Given the description of an element on the screen output the (x, y) to click on. 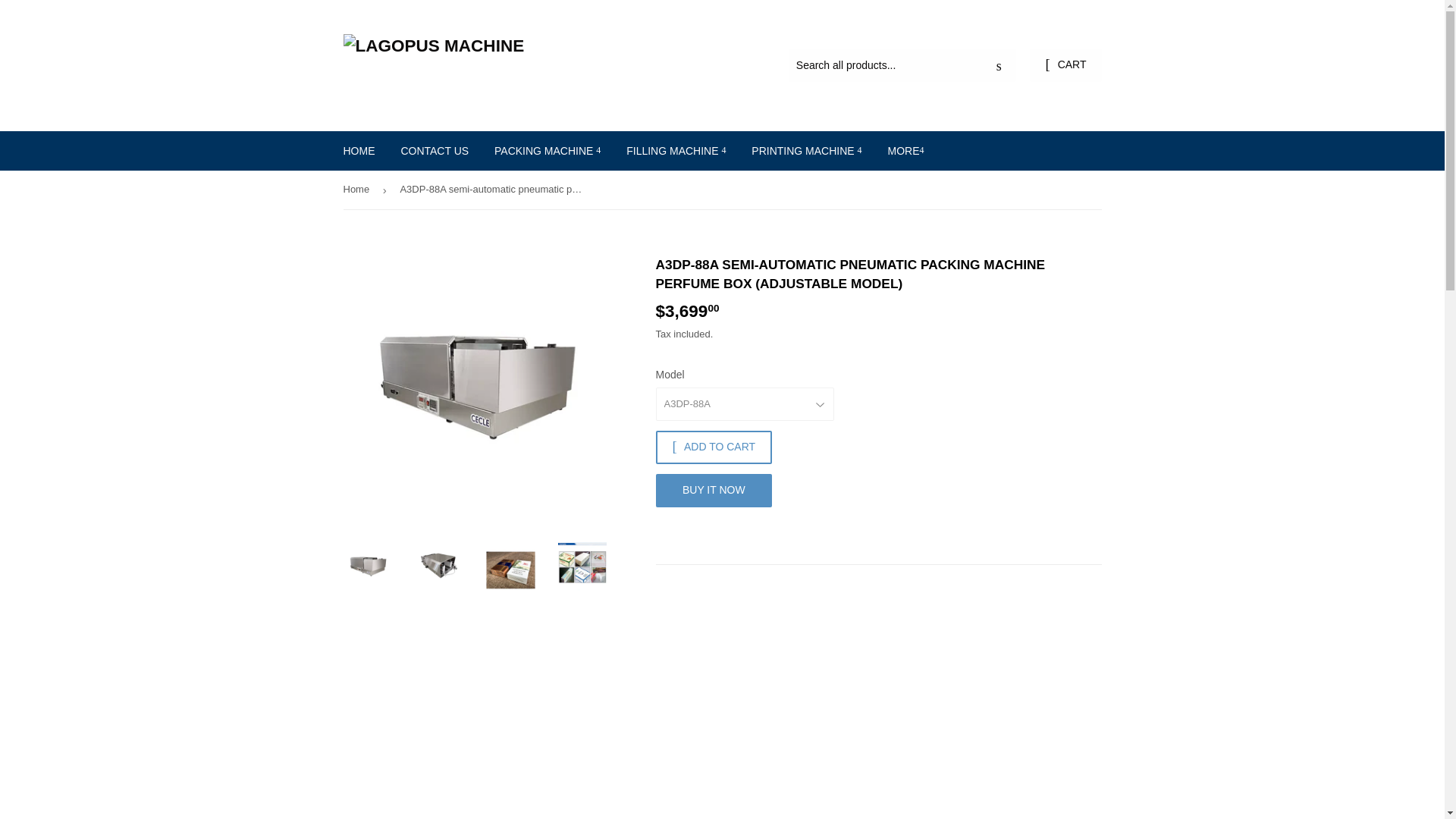
Search (998, 65)
CART (1064, 64)
